Given the description of an element on the screen output the (x, y) to click on. 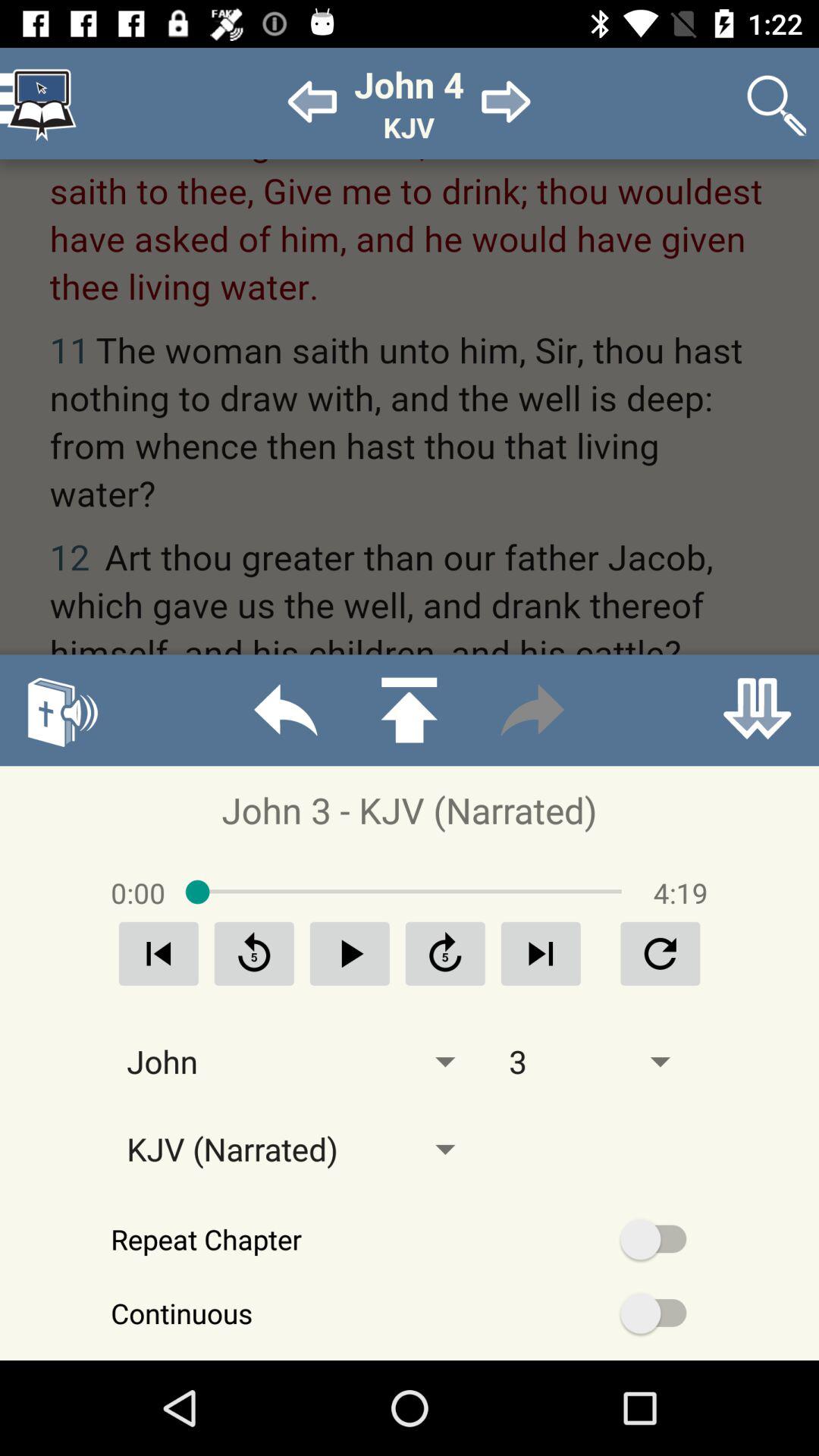
go to previous (349, 953)
